Given the description of an element on the screen output the (x, y) to click on. 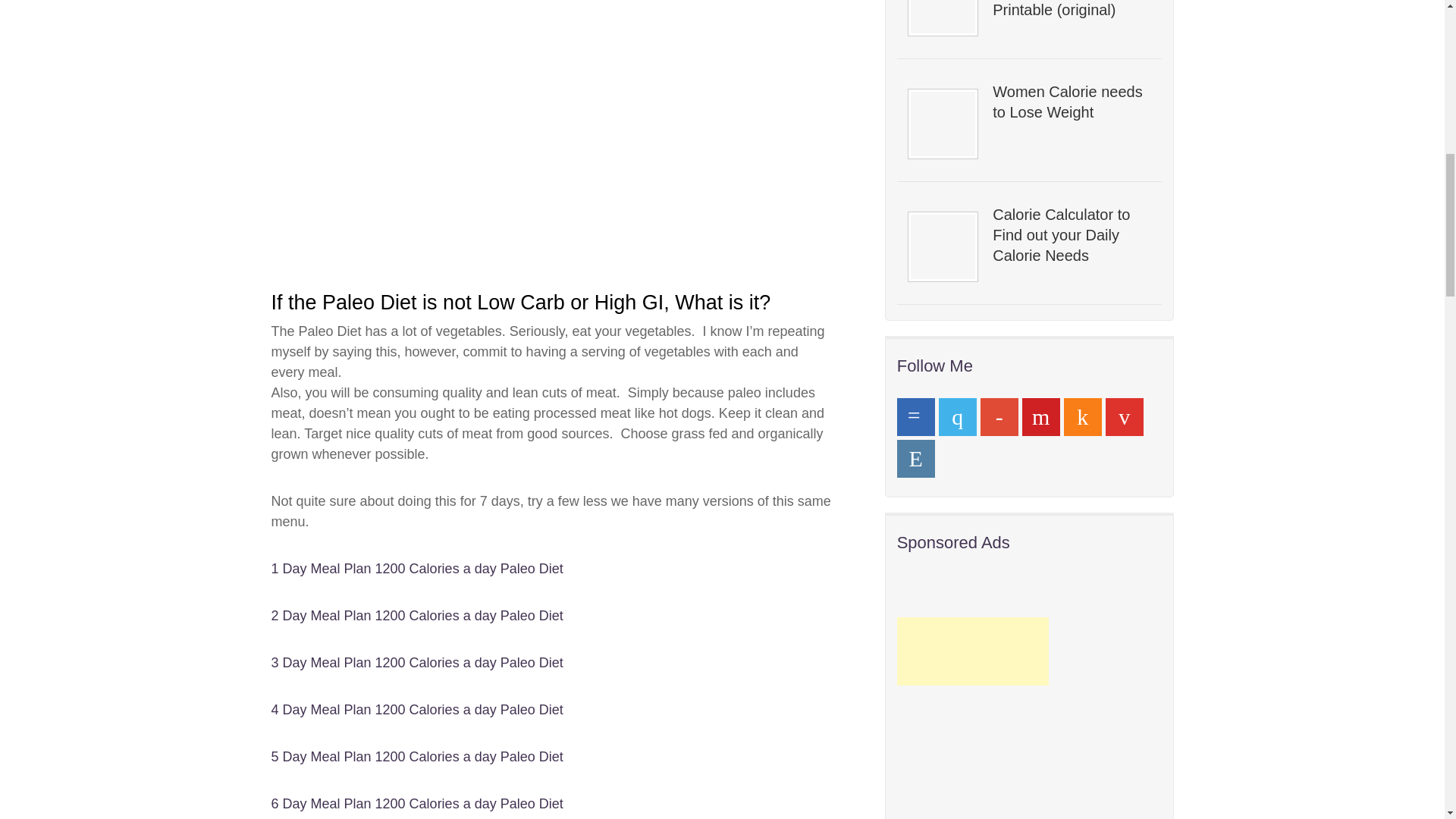
Women Calorie needs to Lose Weight (1071, 101)
Calorie Calculator to Find out your Daily Calorie Needs (1071, 235)
